Given the description of an element on the screen output the (x, y) to click on. 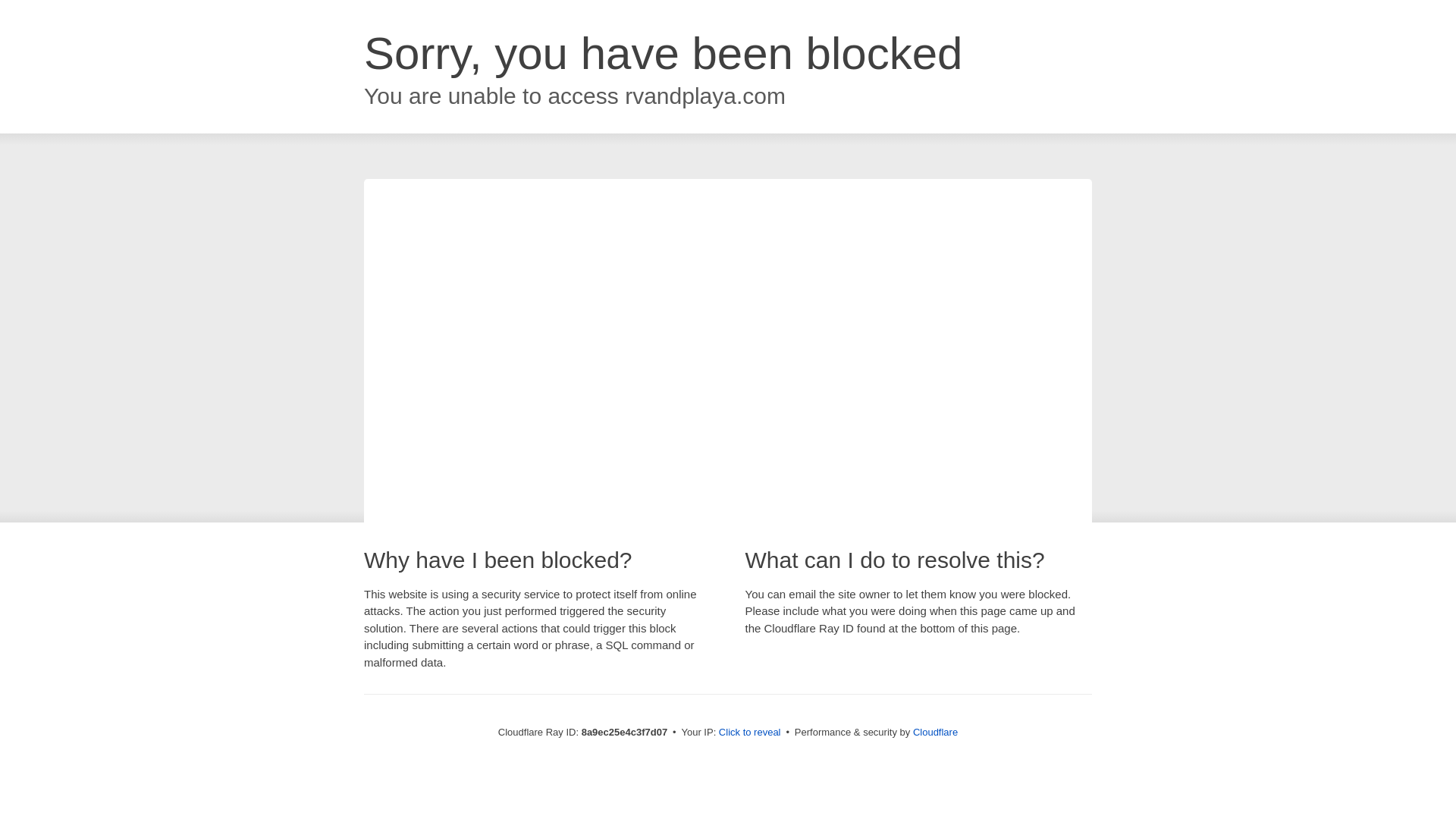
Cloudflare (935, 731)
Click to reveal (749, 732)
